Given the description of an element on the screen output the (x, y) to click on. 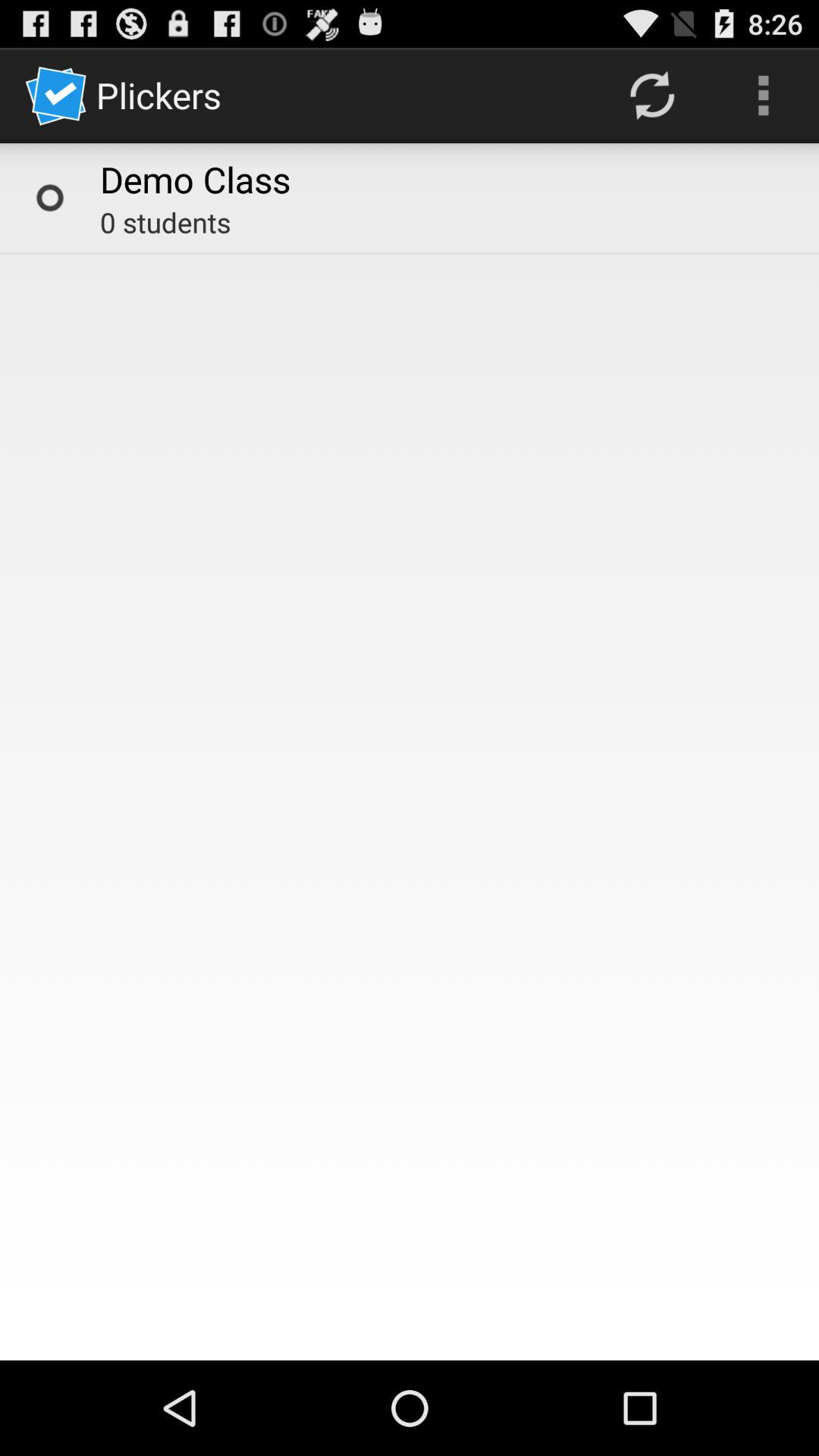
open app next to demo class icon (651, 95)
